Given the description of an element on the screen output the (x, y) to click on. 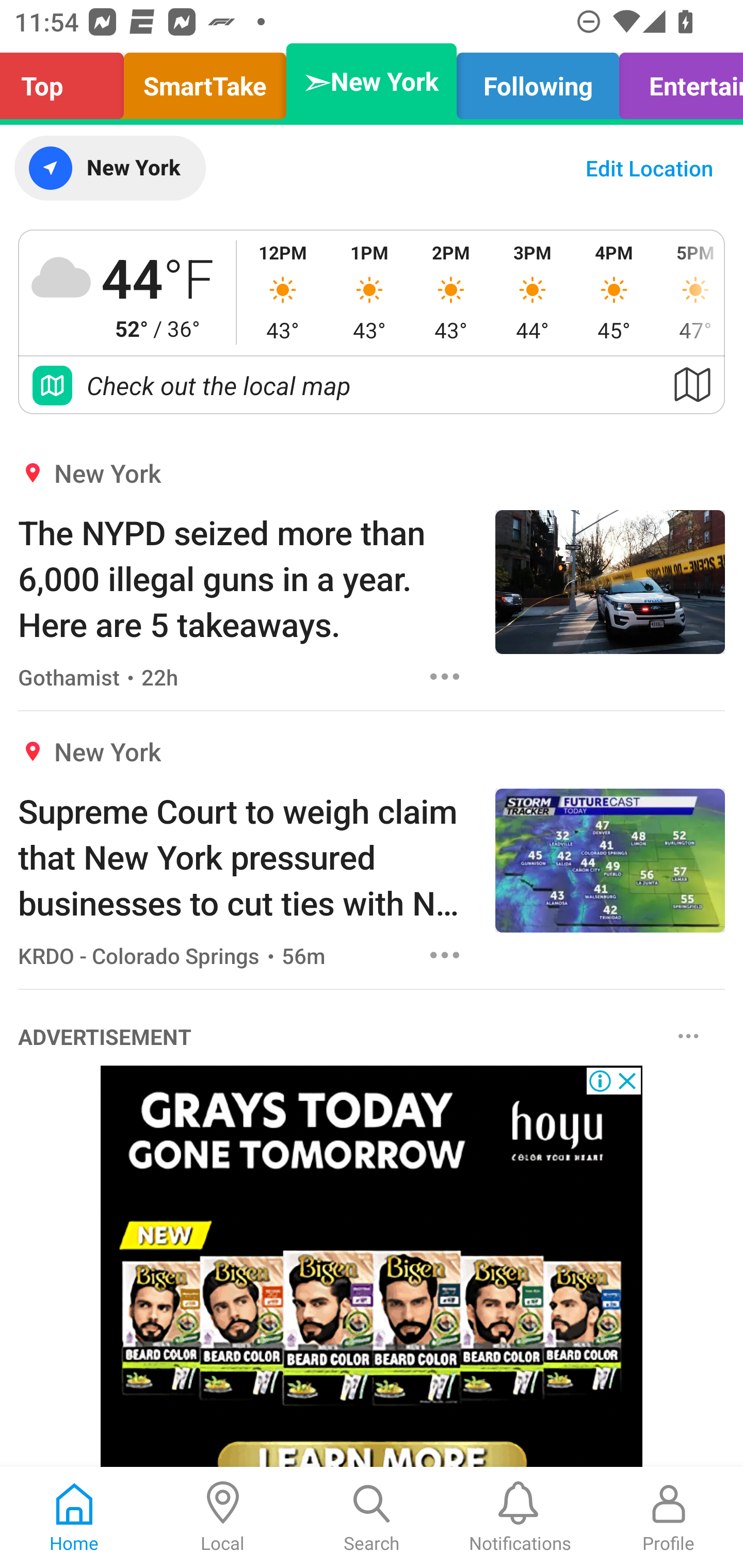
Top (67, 81)
SmartTake (204, 81)
➣New York (371, 81)
Following (537, 81)
New York (109, 168)
Edit Location (648, 168)
12PM 43° (282, 291)
1PM 43° (369, 291)
2PM 43° (450, 291)
3PM 44° (532, 291)
4PM 45° (613, 291)
5PM 47° (689, 291)
Check out the local map (371, 384)
Options (444, 676)
Options (444, 954)
Options (688, 1035)
28 (371, 1266)
Local (222, 1517)
Search (371, 1517)
Notifications (519, 1517)
Profile (668, 1517)
